Given the description of an element on the screen output the (x, y) to click on. 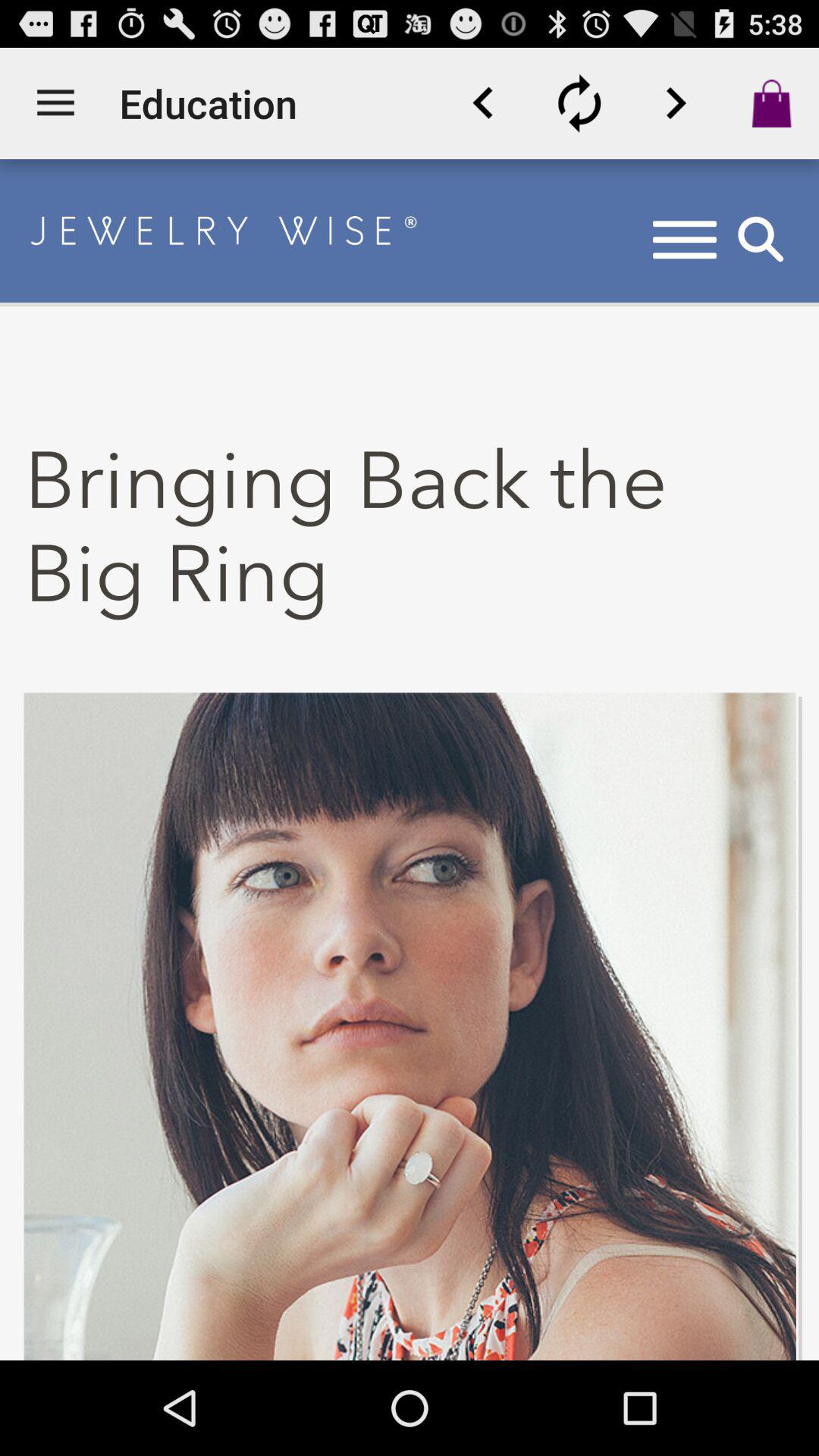
refresh the page (579, 103)
